Given the description of an element on the screen output the (x, y) to click on. 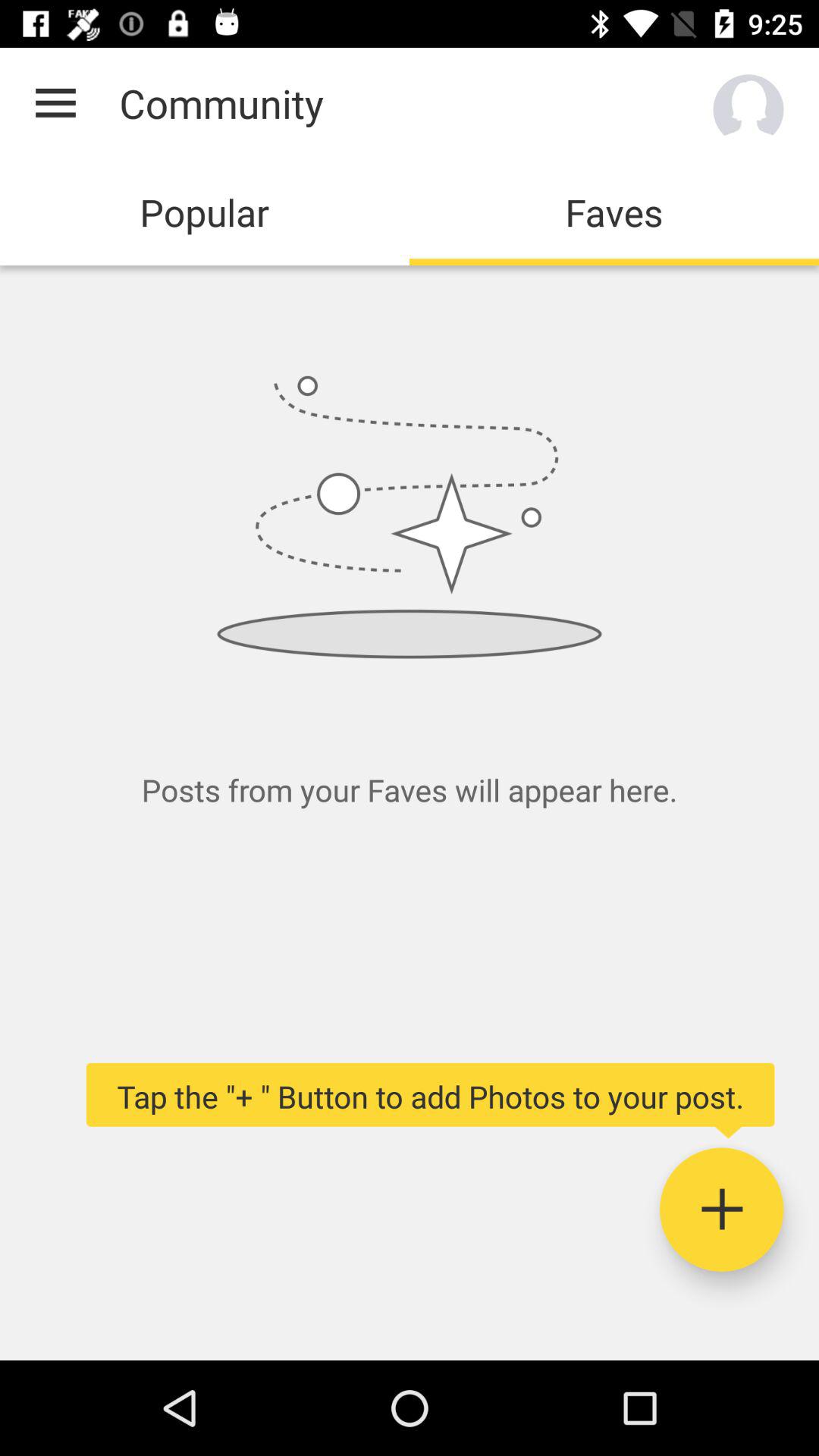
click the icon below tap the button (721, 1209)
